Given the description of an element on the screen output the (x, y) to click on. 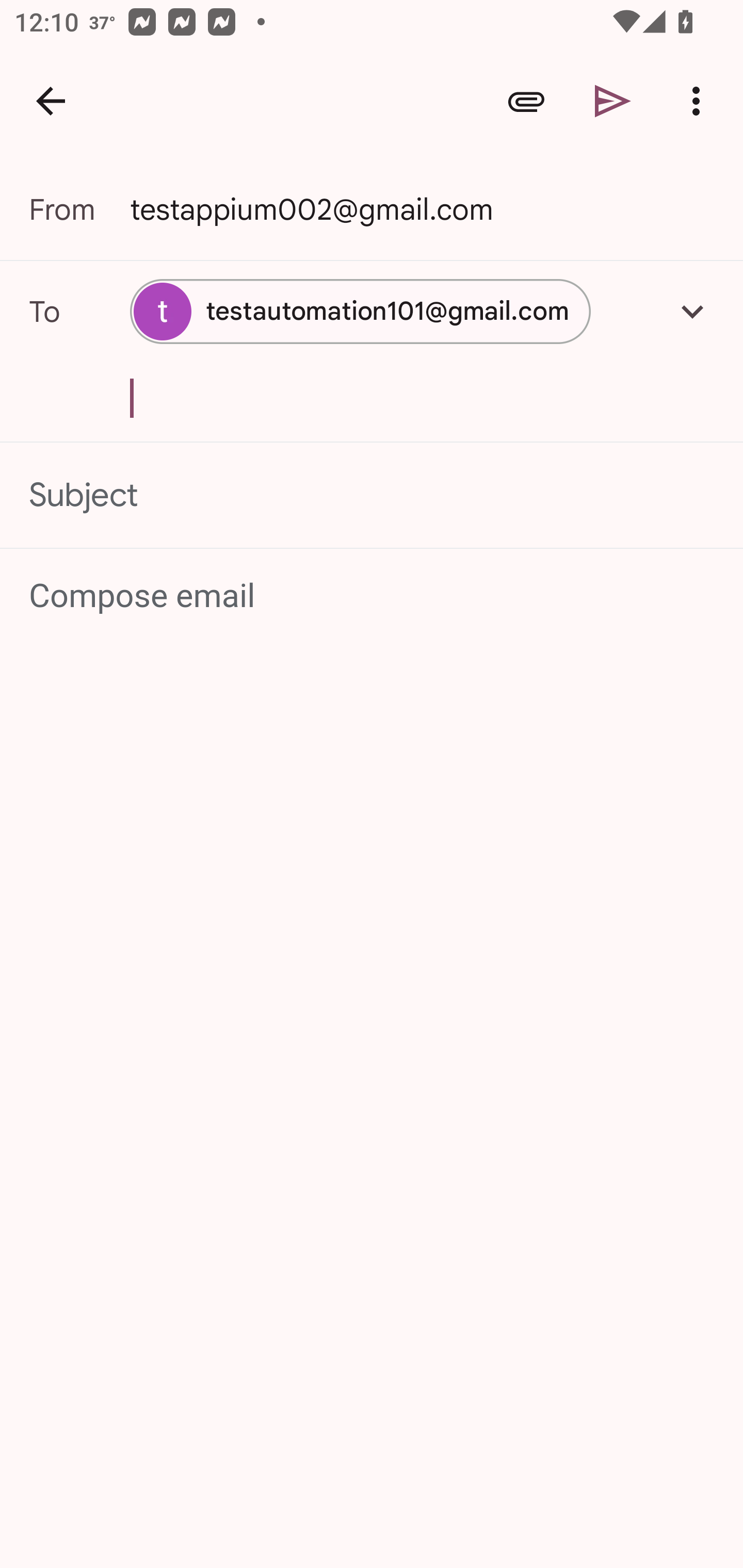
Navigate up (50, 101)
Attach file (525, 101)
Send (612, 101)
More options (699, 101)
From (79, 209)
Add Cc/Bcc (692, 311)
Subject (371, 494)
Compose email (372, 595)
